Given the description of an element on the screen output the (x, y) to click on. 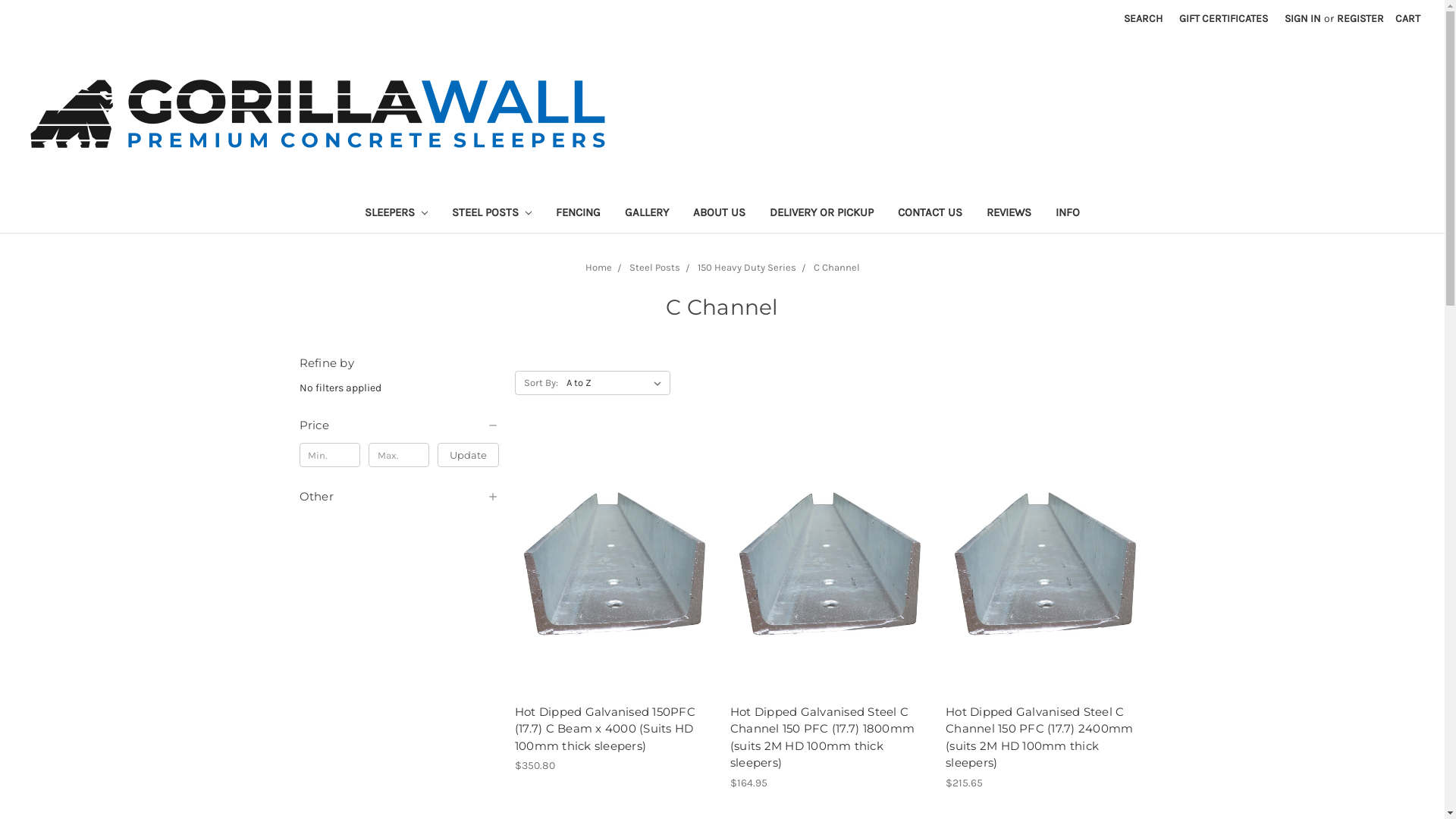
CONTACT US Element type: text (929, 213)
C Channel Element type: text (835, 267)
INFO Element type: text (1067, 213)
ABOUT US Element type: text (718, 213)
GALLERY Element type: text (646, 213)
SLEEPERS Element type: text (395, 213)
Home Element type: text (598, 267)
FENCING Element type: text (577, 213)
SEARCH Element type: text (1142, 18)
REGISTER Element type: text (1360, 18)
SIGN IN Element type: text (1302, 18)
GIFT CERTIFICATES Element type: text (1223, 18)
Steel Posts Element type: text (654, 267)
150 Heavy Duty Series Element type: text (746, 267)
CART Element type: text (1407, 18)
REVIEWS Element type: text (1008, 213)
STEEL POSTS Element type: text (491, 213)
Gorilla Wall Pty Ltd (Sydney) Element type: hover (317, 113)
Update Element type: text (467, 454)
DELIVERY OR PICKUP Element type: text (821, 213)
